Given the description of an element on the screen output the (x, y) to click on. 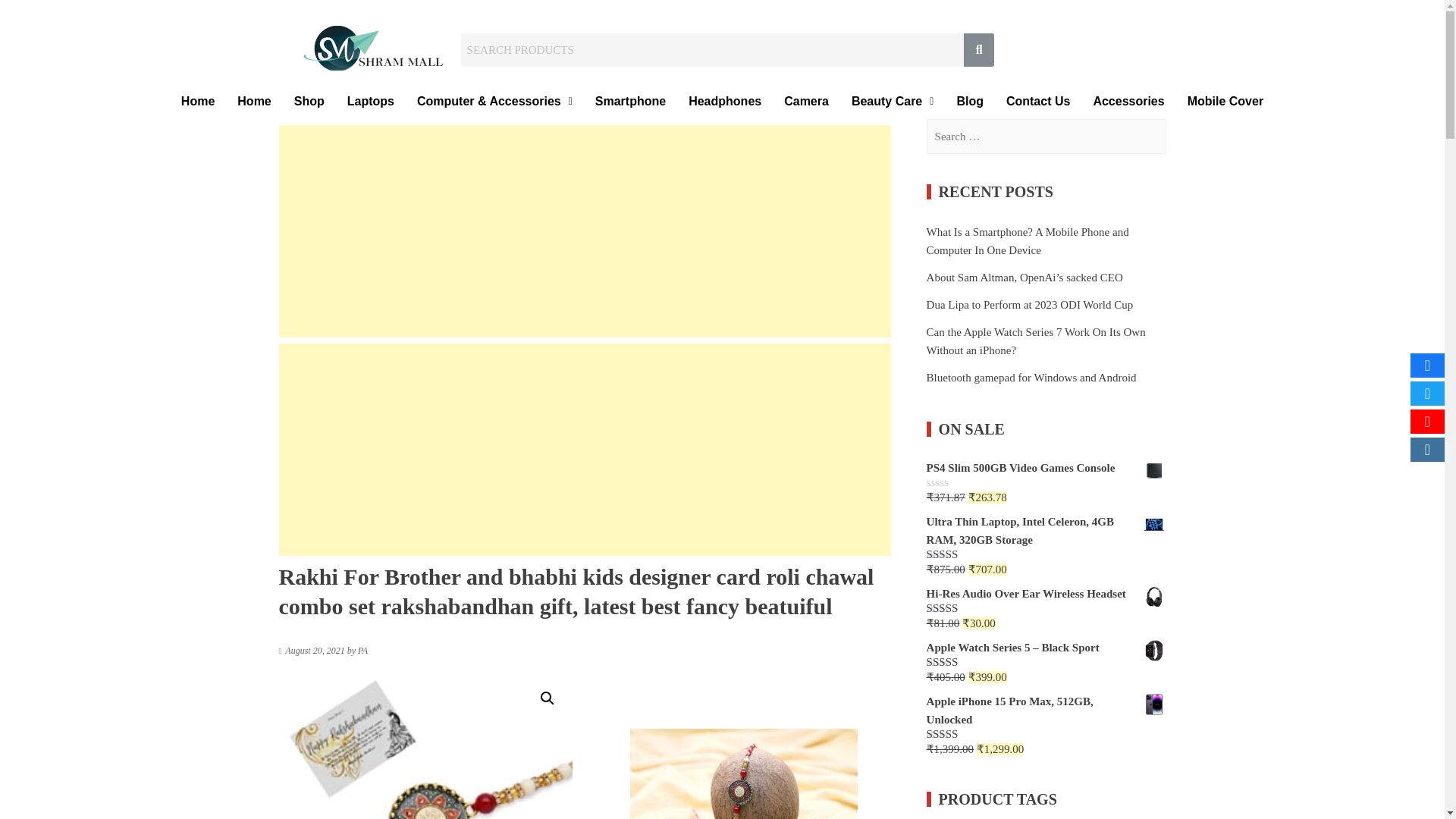
Accessories (1127, 101)
Camera (806, 101)
Smartphone (630, 101)
Search (712, 49)
Laptops (371, 101)
Advertisement (585, 231)
28-min (426, 746)
Contact Us (1037, 101)
Advertisement (585, 449)
Mobile Cover (1225, 101)
Home (197, 101)
Home (253, 101)
Headphones (725, 101)
Blog (969, 101)
Beauty Care (892, 101)
